Given the description of an element on the screen output the (x, y) to click on. 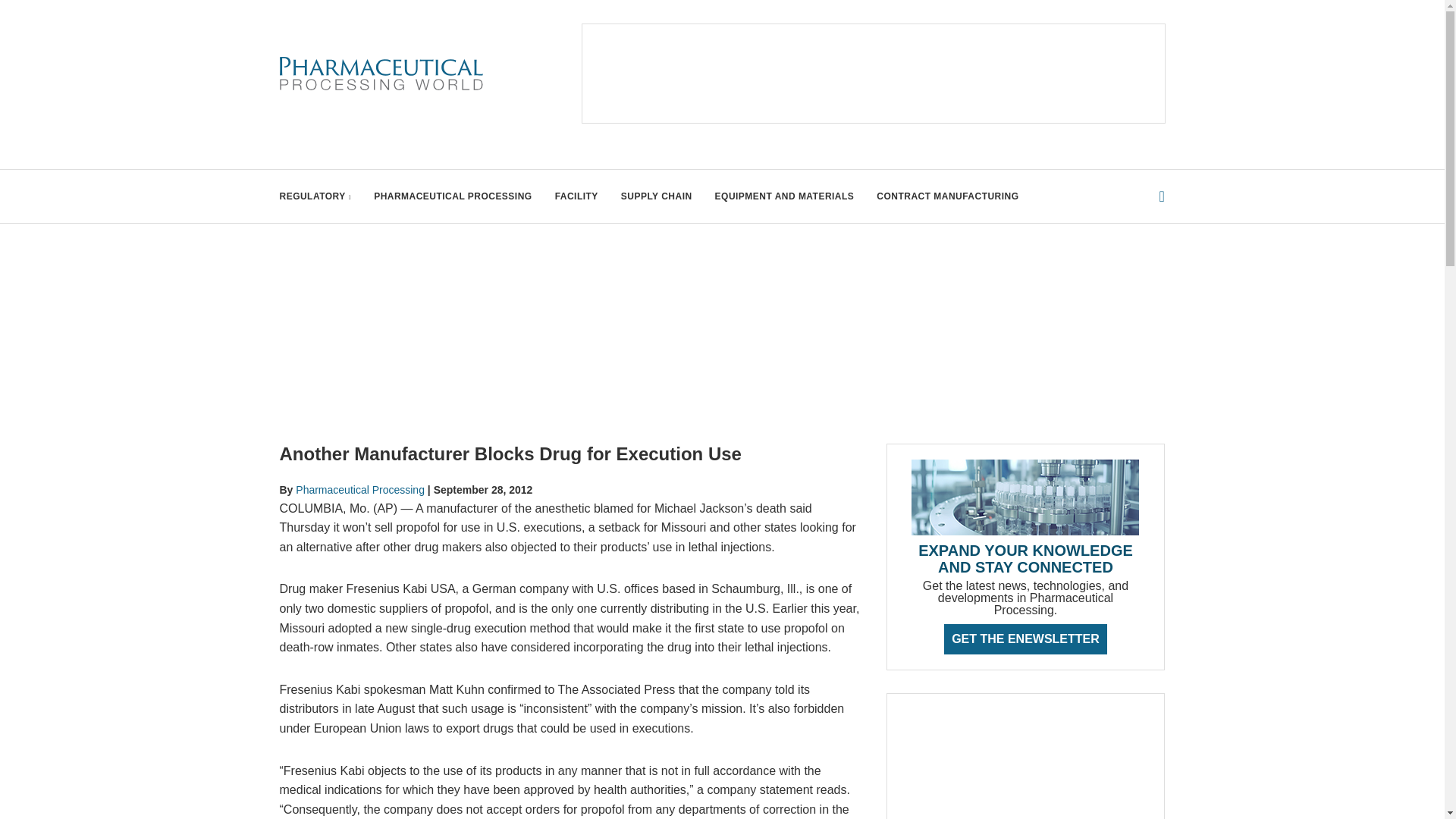
GET THE ENEWSLETTER (1024, 638)
SUPPLY CHAIN (657, 195)
3rd party ad content (873, 73)
3rd party ad content (1024, 764)
EQUIPMENT AND MATERIALS (784, 195)
CONTRACT MANUFACTURING (946, 195)
Pharmaceutical Processing (360, 490)
PHARMACEUTICAL PROCESSING (452, 195)
Pharmaceutical Processing World (380, 73)
REGULATORY (314, 195)
